Given the description of an element on the screen output the (x, y) to click on. 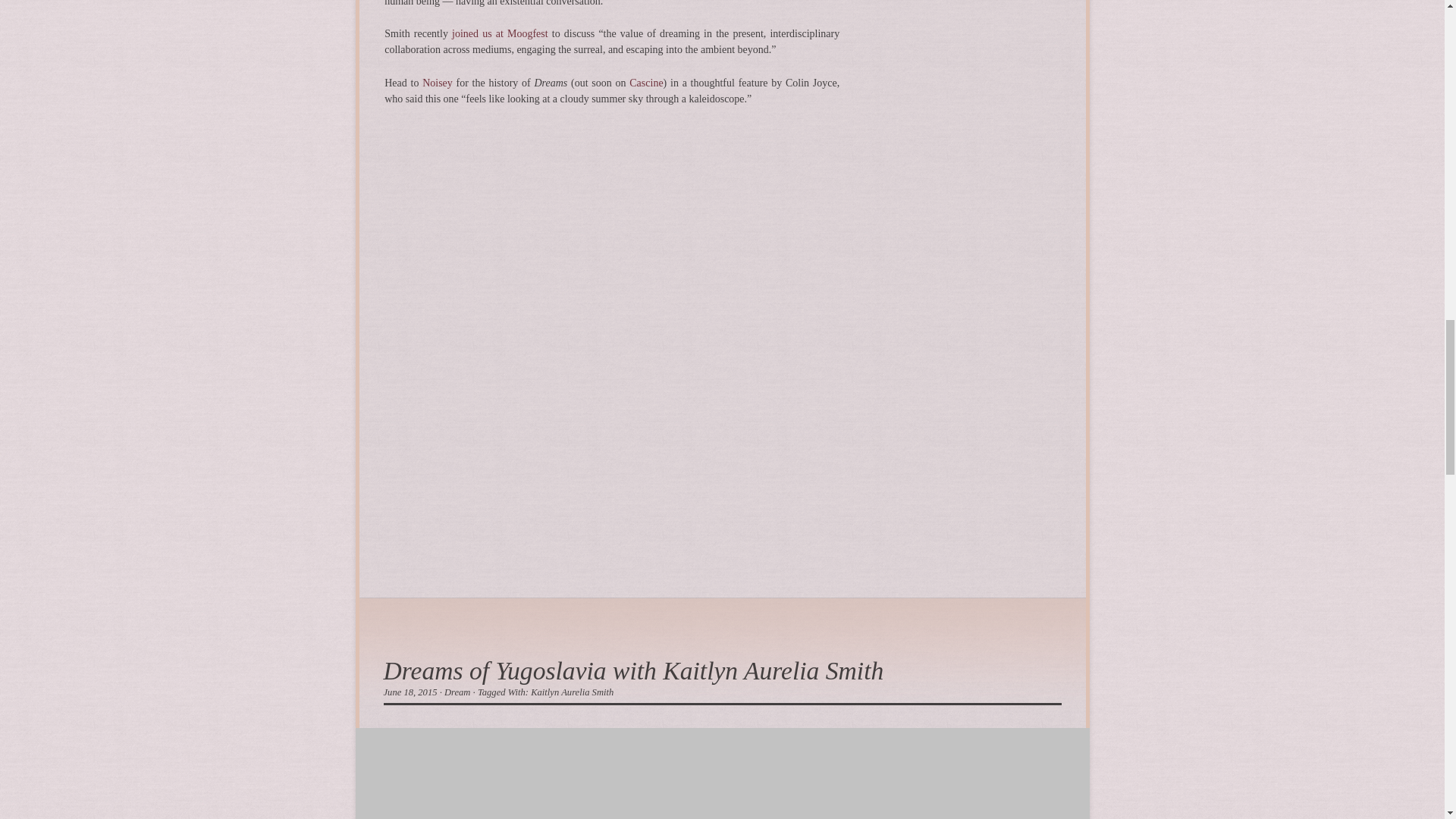
Dreams of Yugoslavia with Kaitlyn Aurelia Smith (633, 670)
Noisey (437, 82)
Dream (457, 692)
joined us at Moogfest (499, 33)
Dreams of Yugoslavia with Kaitlyn Aurelia Smith (633, 670)
Kaitlyn Aurelia Smith (571, 692)
Cascine (645, 82)
